Given the description of an element on the screen output the (x, y) to click on. 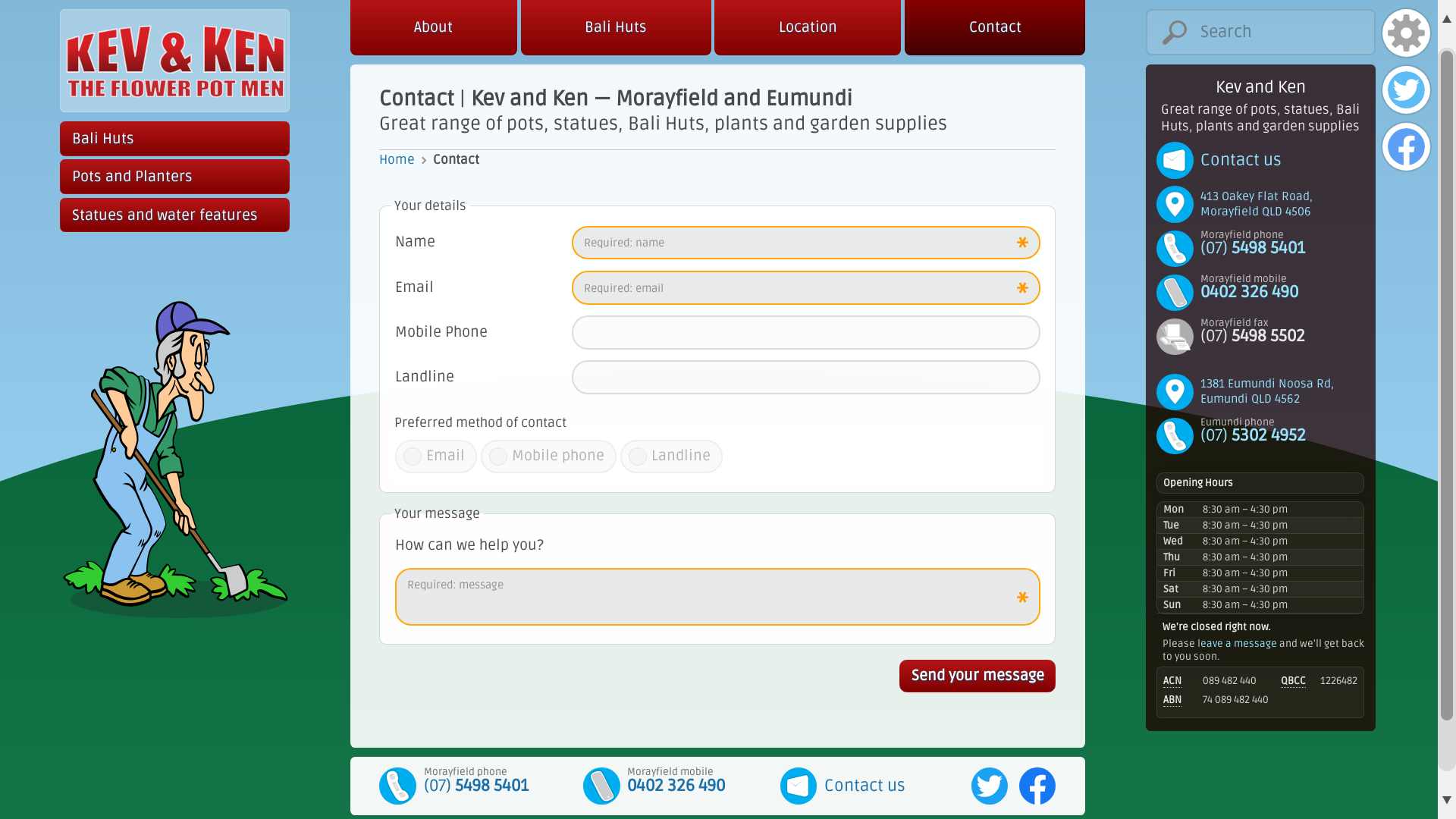
Home Element type: text (406, 159)
Submit Search Element type: text (1145, 70)
413 Oakey Flat Road,
Morayfield QLD 4506 Element type: text (1260, 203)
Morayfield mobile
0402 326 490 Element type: text (675, 785)
Pots and Planters Element type: text (174, 176)
Eumundi phone
(07) 5302 4952 Element type: text (1260, 435)
About Element type: text (433, 27)
Show Twitter Options Element type: text (1405, 89)
Bali Huts Element type: text (174, 138)
Kev and Ken Element type: hover (174, 60)
leave a message Element type: text (1237, 643)
Morayfield phone
(07) 5498 5401 Element type: text (1260, 248)
Location Element type: text (807, 27)
Share page on Facebook Element type: text (1037, 785)
Contact us Element type: text (1260, 159)
1381 Eumundi Noosa Rd,
Eumundi QLD 4562 Element type: text (1260, 391)
Send your message Element type: text (977, 675)
Statues and water features Element type: text (174, 214)
Bali Huts Element type: text (615, 27)
Morayfield mobile
0402 326 490 Element type: text (1260, 292)
Show Facebook Options Element type: text (1405, 146)
Morayfield phone
(07) 5498 5401 Element type: text (475, 785)
Site Settings Element type: text (1405, 32)
Contact us Element type: text (864, 785)
Contact Element type: text (994, 27)
Share page on Twitter Element type: text (989, 785)
